Given the description of an element on the screen output the (x, y) to click on. 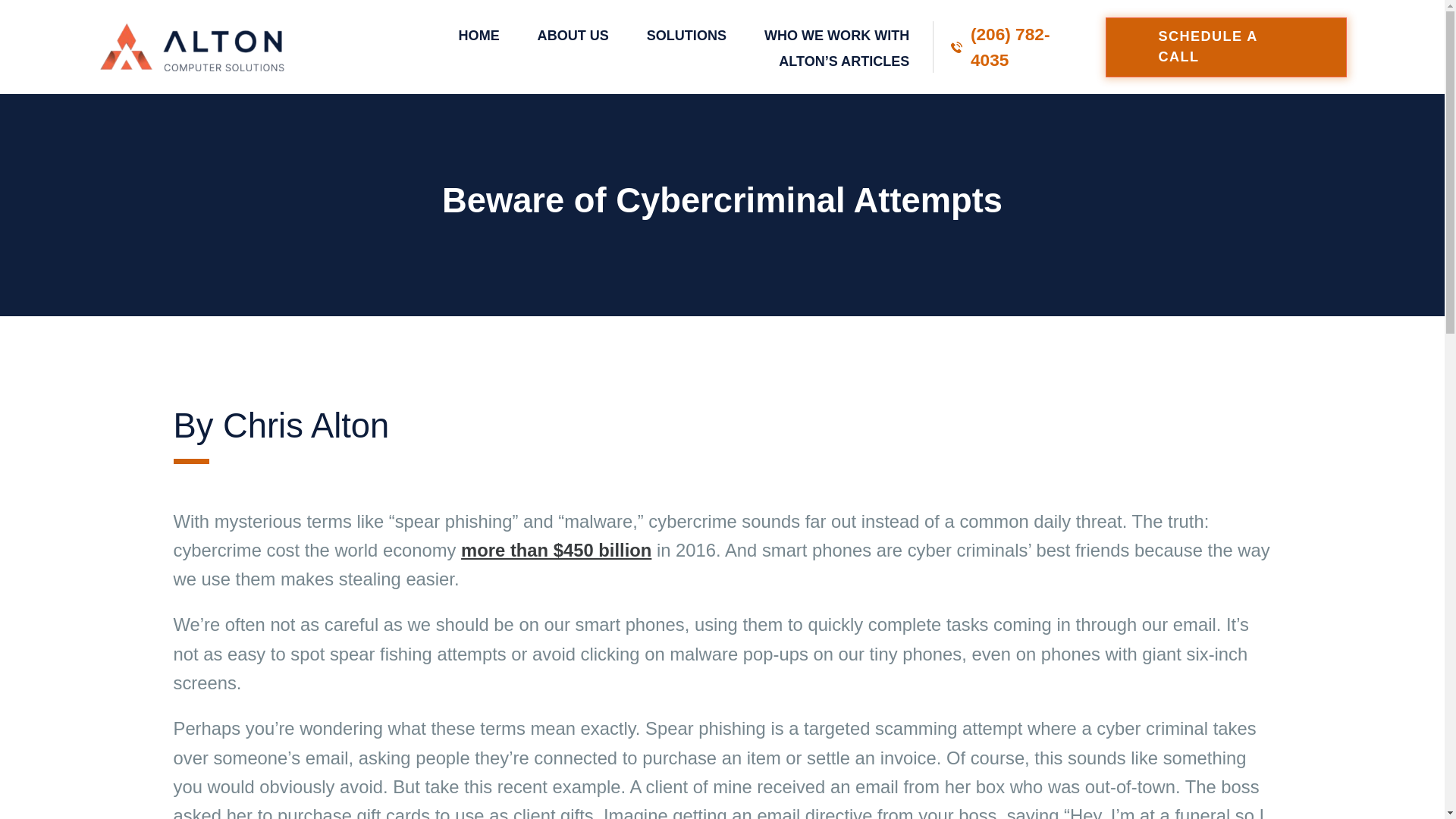
WHO WE WORK WITH (836, 35)
SCHEDULE A CALL (1225, 46)
SOLUTIONS (686, 35)
HOME (478, 35)
ABOUT US (572, 35)
